Given the description of an element on the screen output the (x, y) to click on. 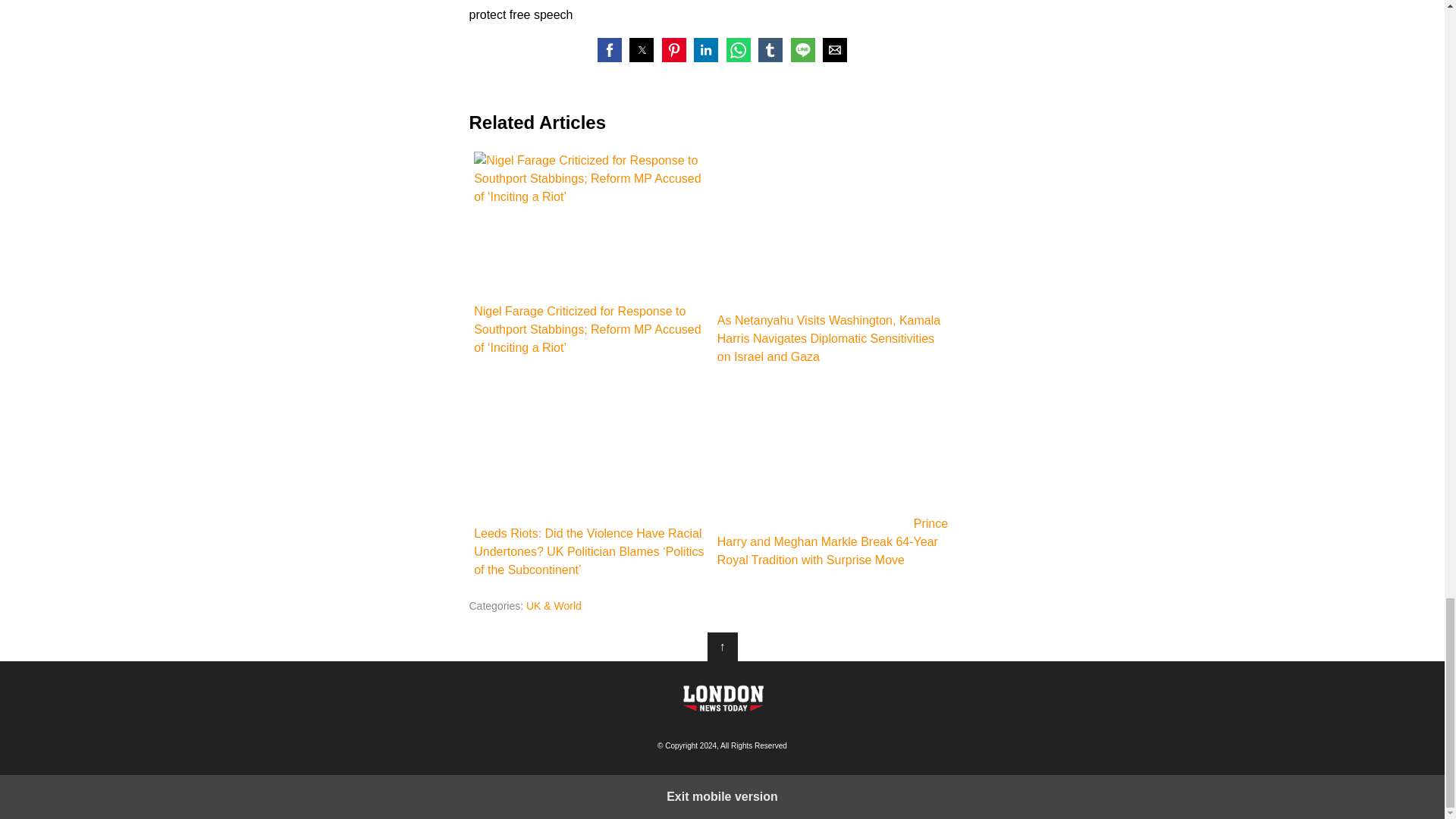
Londonnewstime.com (721, 698)
